Given the description of an element on the screen output the (x, y) to click on. 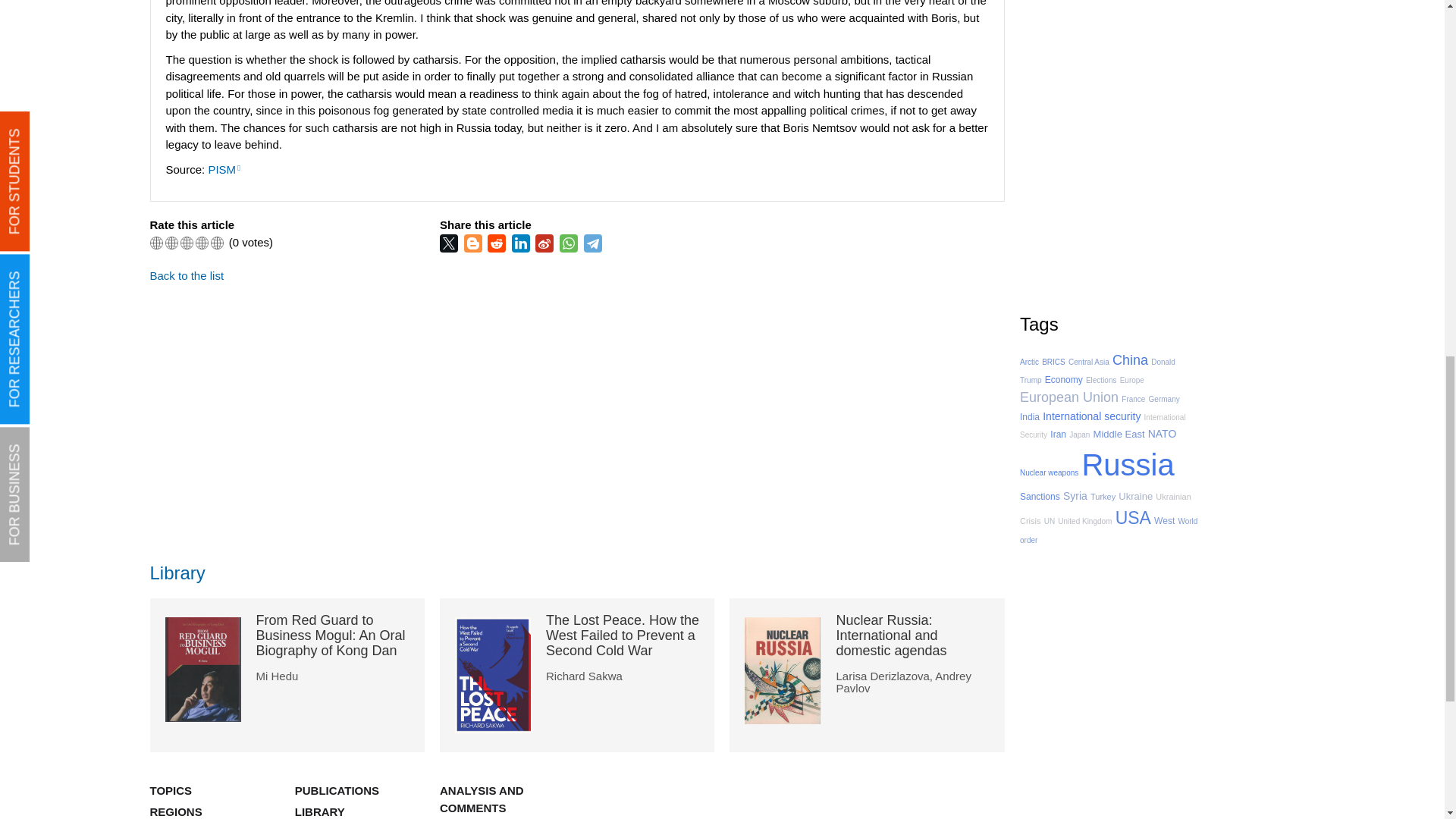
Twitter (450, 243)
I recommend (201, 242)
I do not recommend (156, 242)
Not interested (171, 242)
Blogger (474, 243)
reddit (497, 243)
Interested (186, 242)
Highly recommend (217, 242)
